Given the description of an element on the screen output the (x, y) to click on. 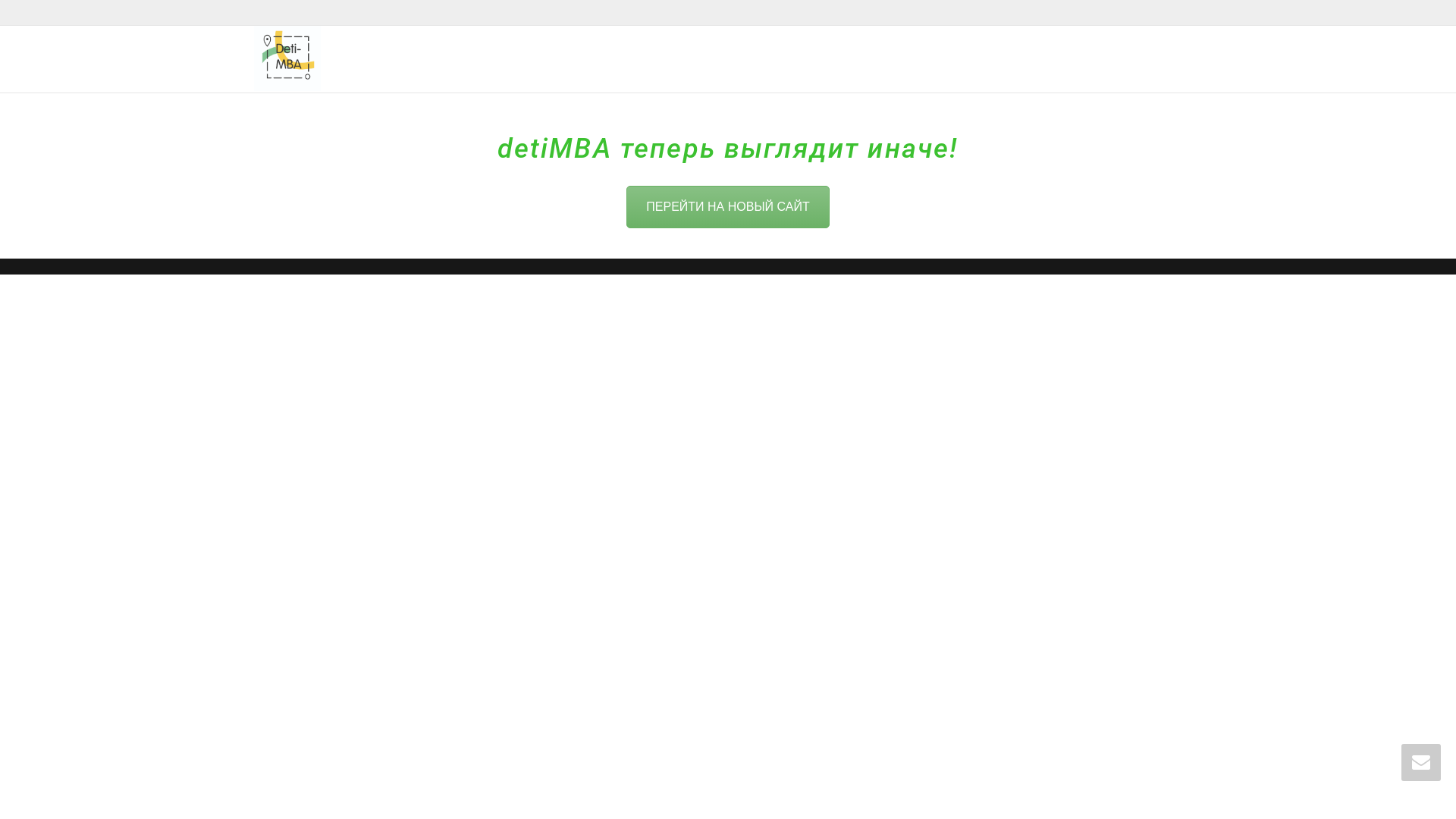
detiMBA Element type: hover (287, 57)
